Given the description of an element on the screen output the (x, y) to click on. 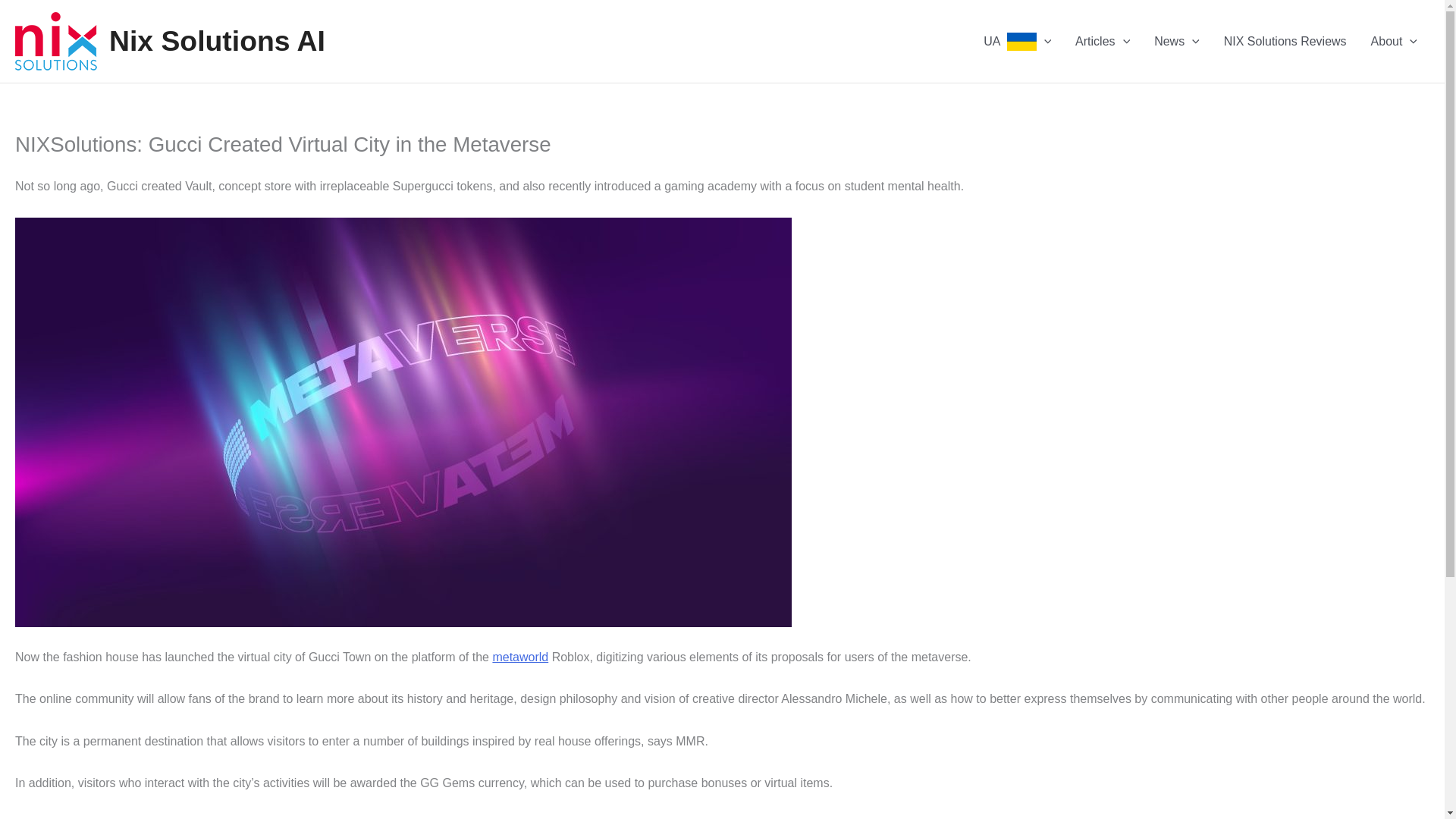
UA   (1016, 41)
Nix Solutions AI (216, 40)
Articles (1101, 41)
Ukrainian (1021, 40)
